Given the description of an element on the screen output the (x, y) to click on. 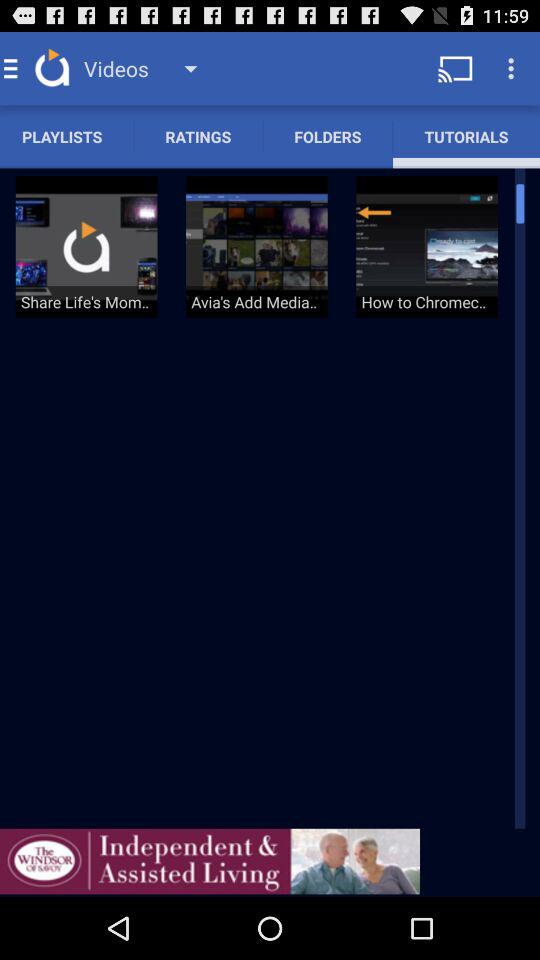
advatisment paga (210, 861)
